Given the description of an element on the screen output the (x, y) to click on. 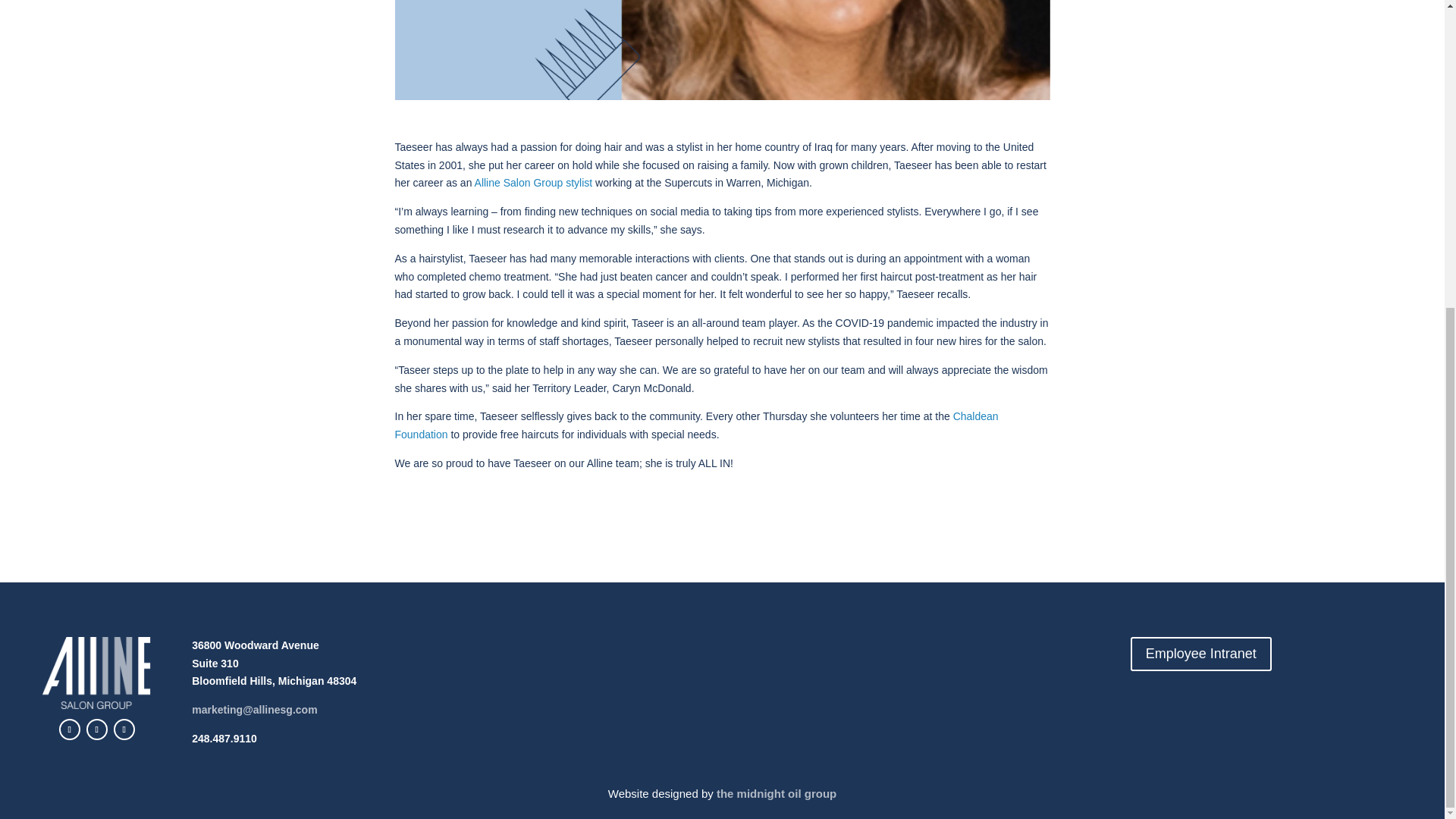
logo-footer (96, 673)
Follow on LinkedIn (124, 729)
Follow on Instagram (96, 729)
Employee Intranet (1201, 653)
Follow on Facebook (69, 729)
Alline Salon Group stylist (533, 182)
ASG February Stylist (721, 49)
Chaldean Foundation (695, 425)
the midnight oil group (775, 793)
